Given the description of an element on the screen output the (x, y) to click on. 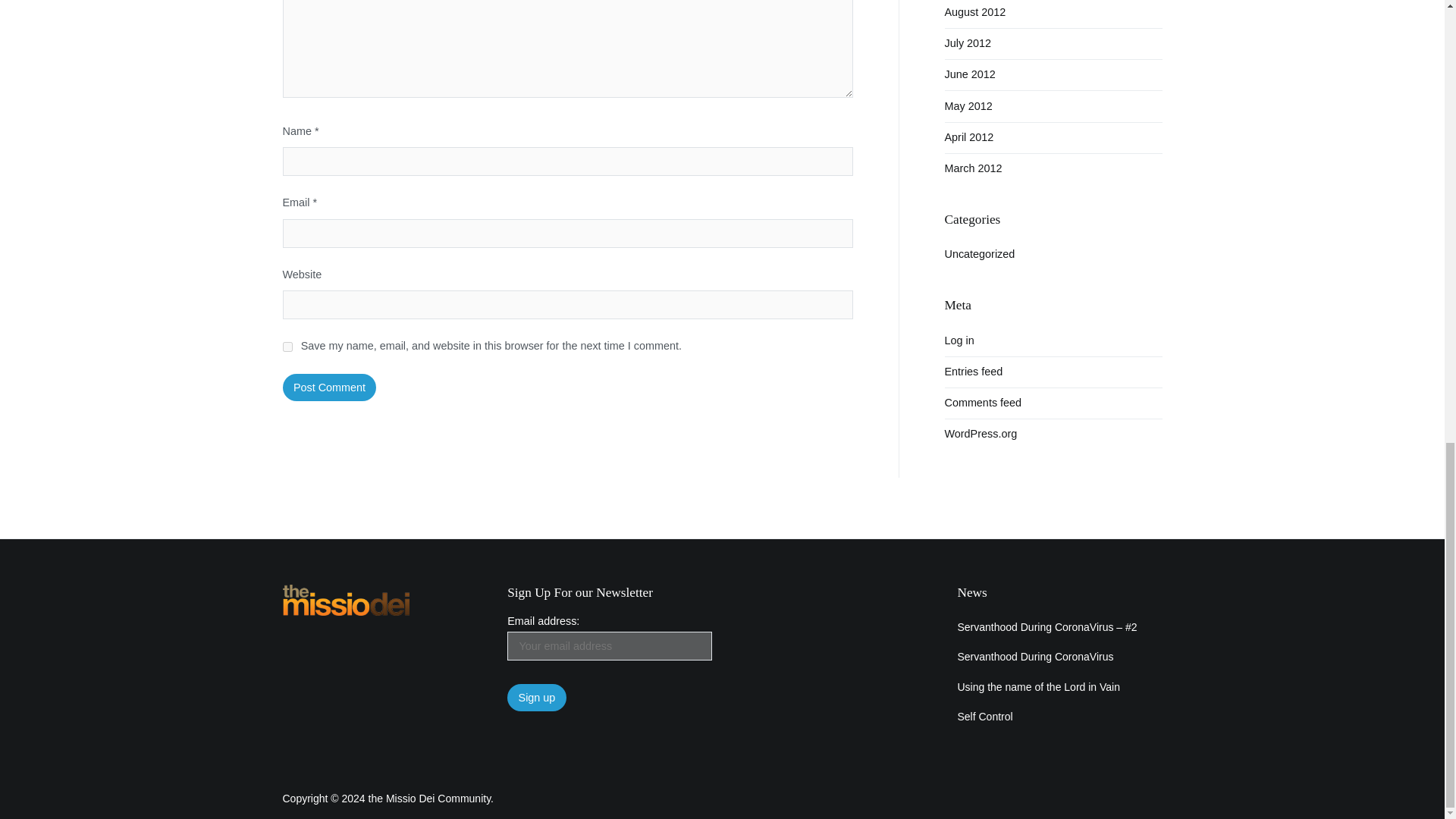
the Missio Dei Community (430, 798)
Sign up (536, 697)
Post Comment (328, 387)
yes (287, 347)
Post Comment (328, 387)
